Given the description of an element on the screen output the (x, y) to click on. 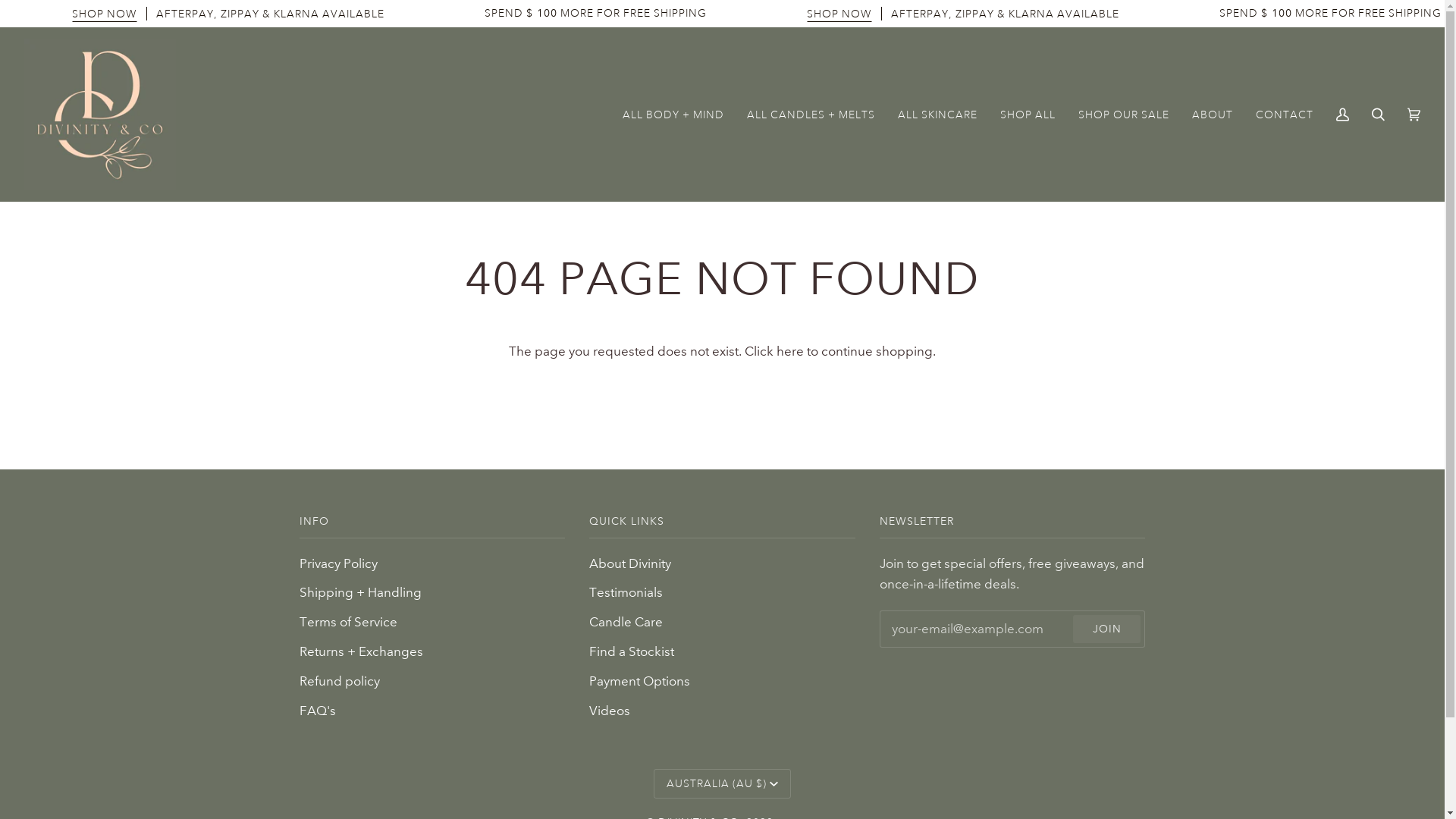
SHOP NOW Element type: text (838, 13)
ABOUT Element type: text (1212, 114)
CONTACT Element type: text (1284, 114)
ALL BODY + MIND Element type: text (673, 114)
Testimonials Element type: text (625, 592)
SHOP NOW Element type: text (104, 13)
SHOP OUR SALE Element type: text (1123, 114)
Privacy Policy Element type: text (337, 563)
Returns + Exchanges Element type: text (360, 651)
Terms of Service Element type: text (347, 622)
Refund policy Element type: text (338, 681)
Candle Care Element type: text (625, 622)
FAQ's Element type: text (316, 710)
SHOP ALL Element type: text (1027, 114)
ALL CANDLES + MELTS Element type: text (810, 114)
Cart
(0) Element type: text (1413, 114)
JOIN Element type: text (1106, 629)
My Account Element type: text (1342, 114)
AUSTRALIA (AU $) Element type: text (721, 783)
Payment Options Element type: text (639, 681)
here Element type: text (789, 351)
Videos Element type: text (609, 710)
About Divinity Element type: text (630, 563)
Shipping + Handling Element type: text (359, 592)
Find a Stockist Element type: text (631, 651)
ALL SKINCARE Element type: text (937, 114)
Search Element type: text (1378, 114)
